Given the description of an element on the screen output the (x, y) to click on. 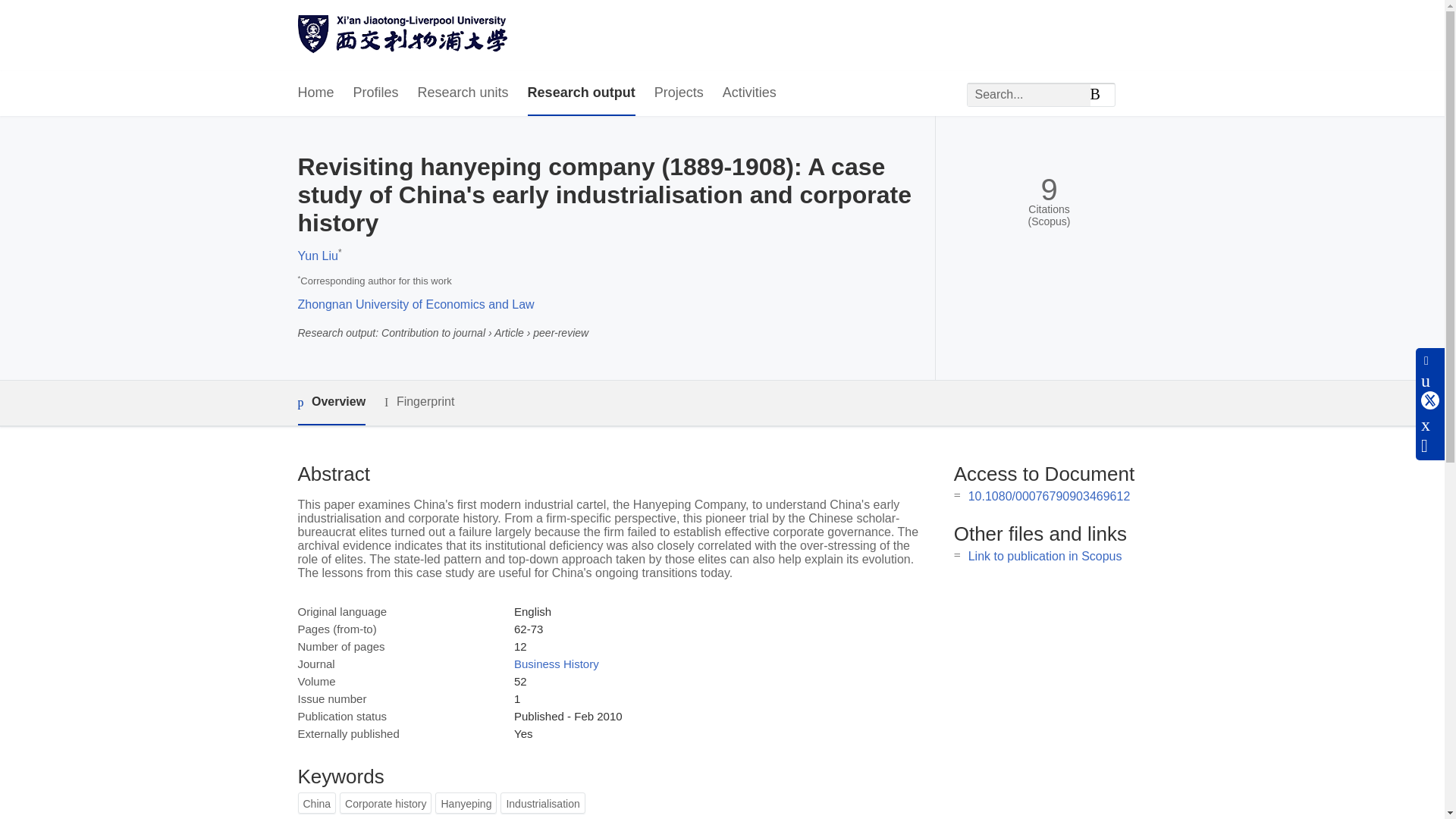
Fingerprint (419, 402)
Profiles (375, 93)
Research output (580, 93)
Overview (331, 402)
Xi'an Jiaotong-Liverpool University Home (401, 35)
Yun Liu (317, 255)
Business History (555, 663)
Research units (462, 93)
Projects (678, 93)
Activities (749, 93)
Link to publication in Scopus (1045, 555)
Zhongnan University of Economics and Law (415, 304)
